Given the description of an element on the screen output the (x, y) to click on. 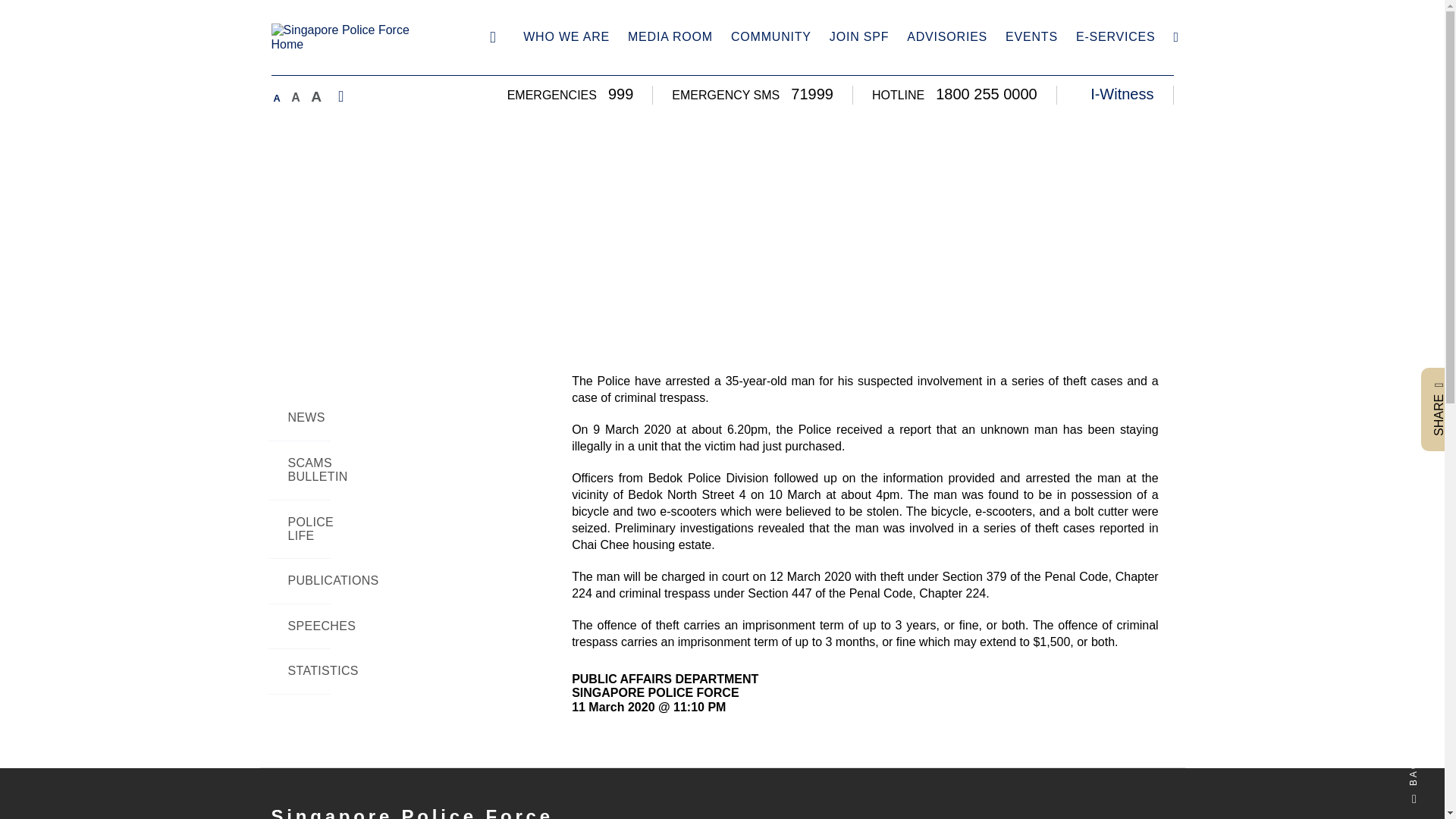
Go back to SPF homepage (492, 35)
WHO WE ARE (566, 38)
MEDIA ROOM (670, 38)
Who We Are (566, 38)
COMMUNITY (770, 38)
Click here to go back to SPF homepage (356, 37)
